Given the description of an element on the screen output the (x, y) to click on. 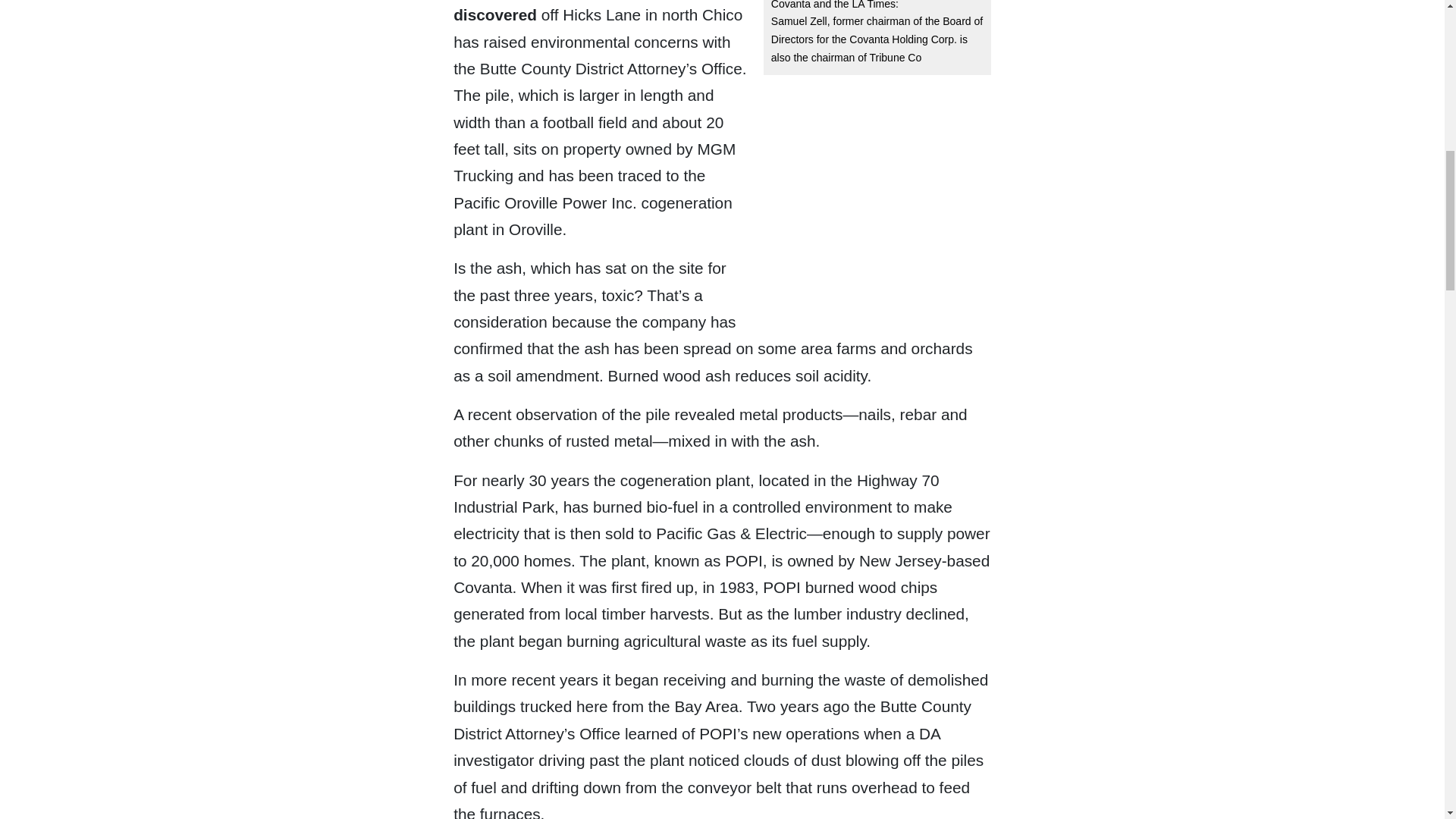
3rd party ad content (876, 181)
